Given the description of an element on the screen output the (x, y) to click on. 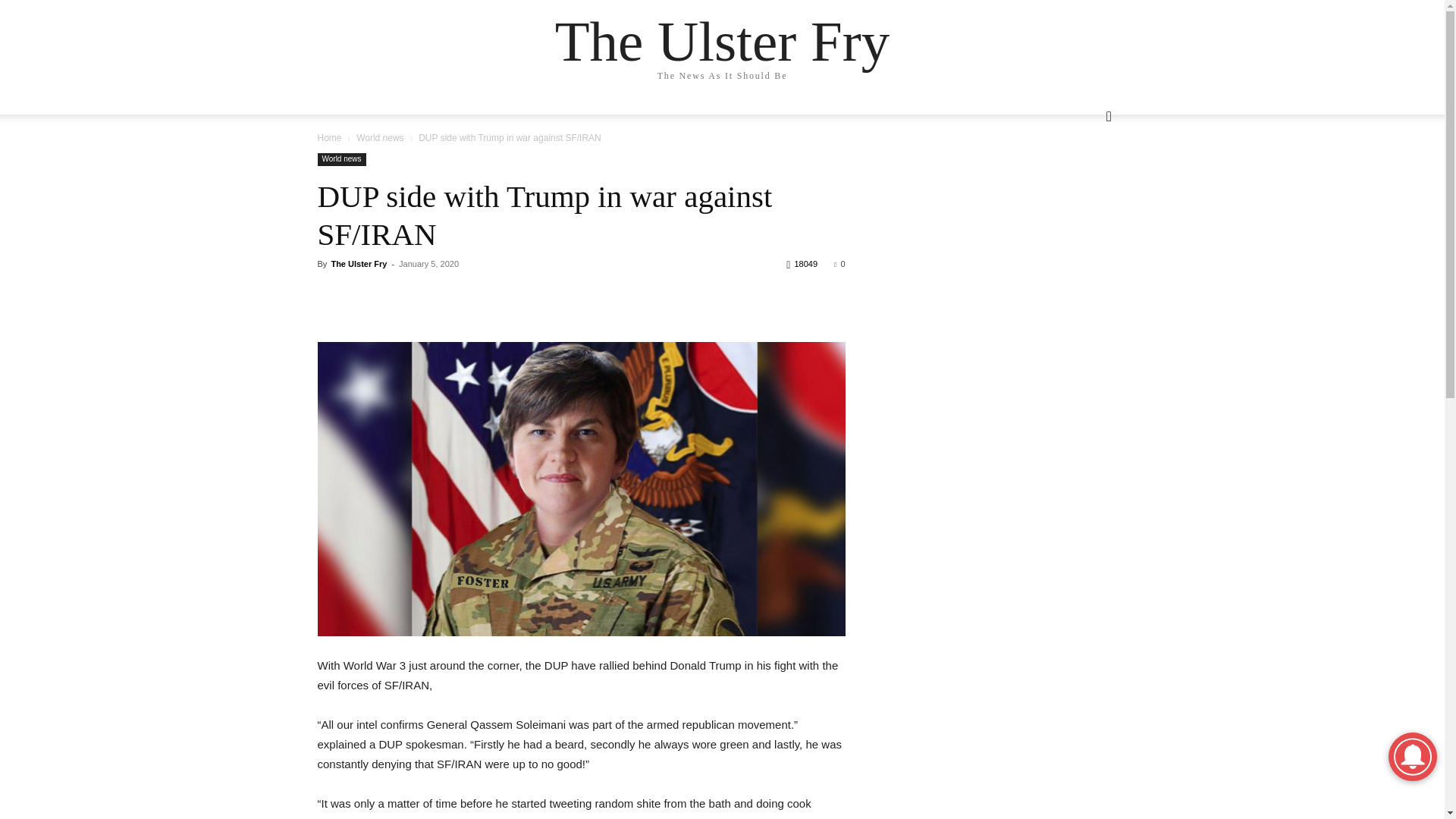
The Ulster Fry (358, 263)
0 (839, 263)
Home (328, 137)
The Ulster Fry (721, 41)
Search (1081, 177)
World news (341, 159)
View all posts in World news (379, 137)
World news (379, 137)
